Given the description of an element on the screen output the (x, y) to click on. 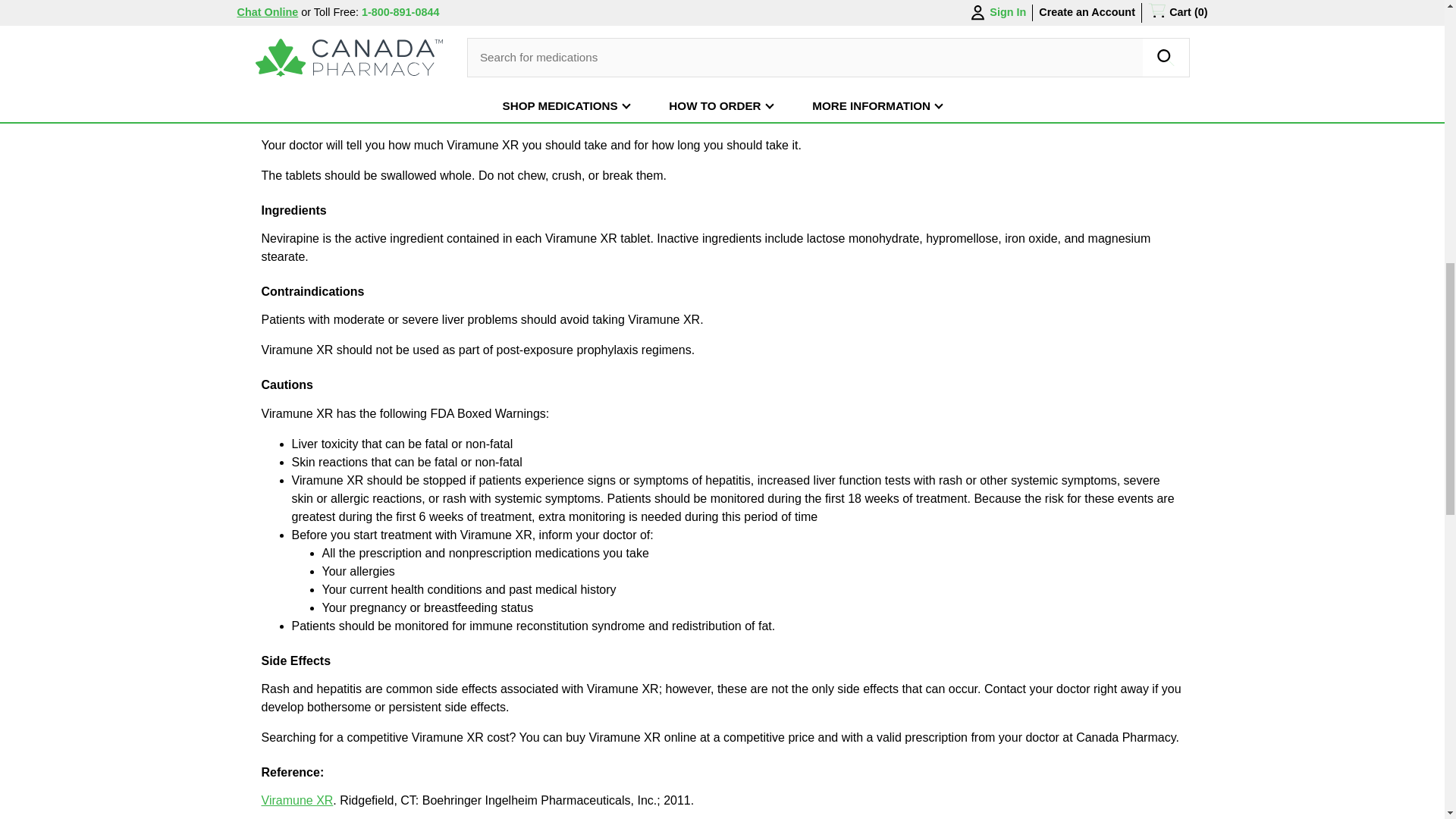
Viramune XR (296, 799)
